Given the description of an element on the screen output the (x, y) to click on. 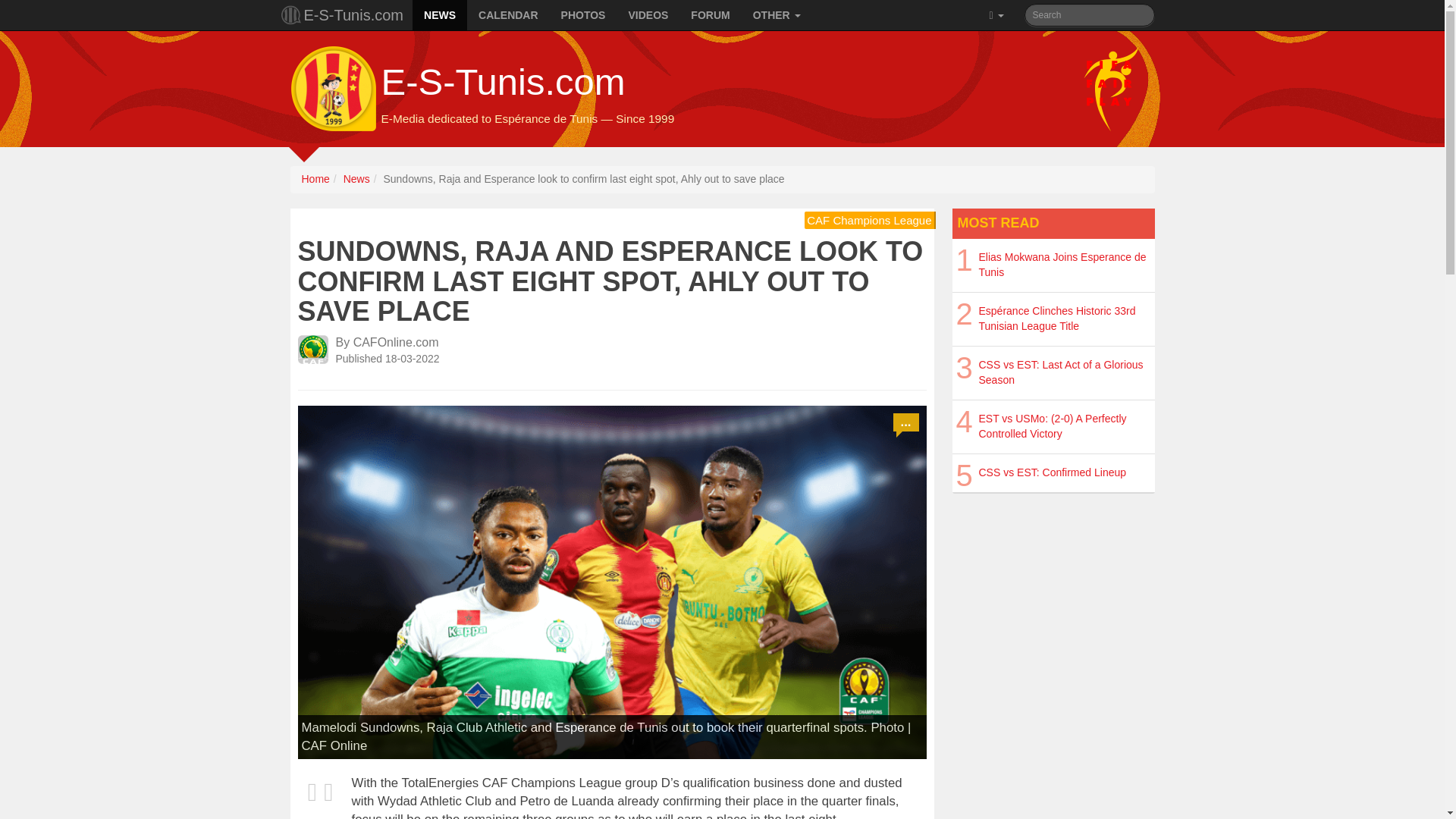
Home (315, 178)
Elias Mokwana Joins Esperance de Tunis (1061, 264)
News (356, 178)
OTHER (776, 15)
VIDEOS (647, 15)
NEWS (439, 15)
PHOTOS (583, 15)
E-S-Tunis.com (346, 15)
FORUM (710, 15)
